Given the description of an element on the screen output the (x, y) to click on. 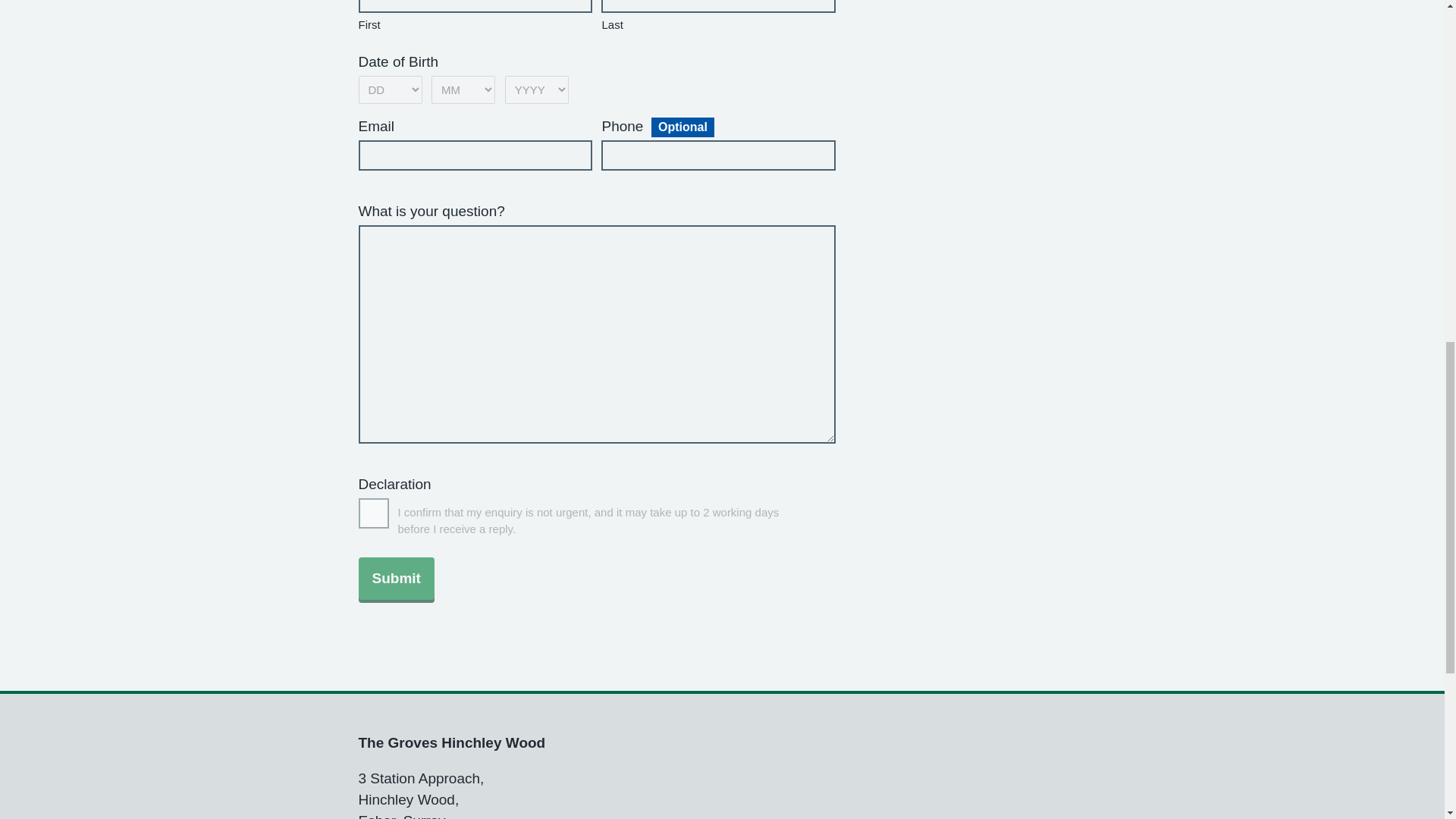
Submit (395, 578)
Submit (395, 578)
